Given the description of an element on the screen output the (x, y) to click on. 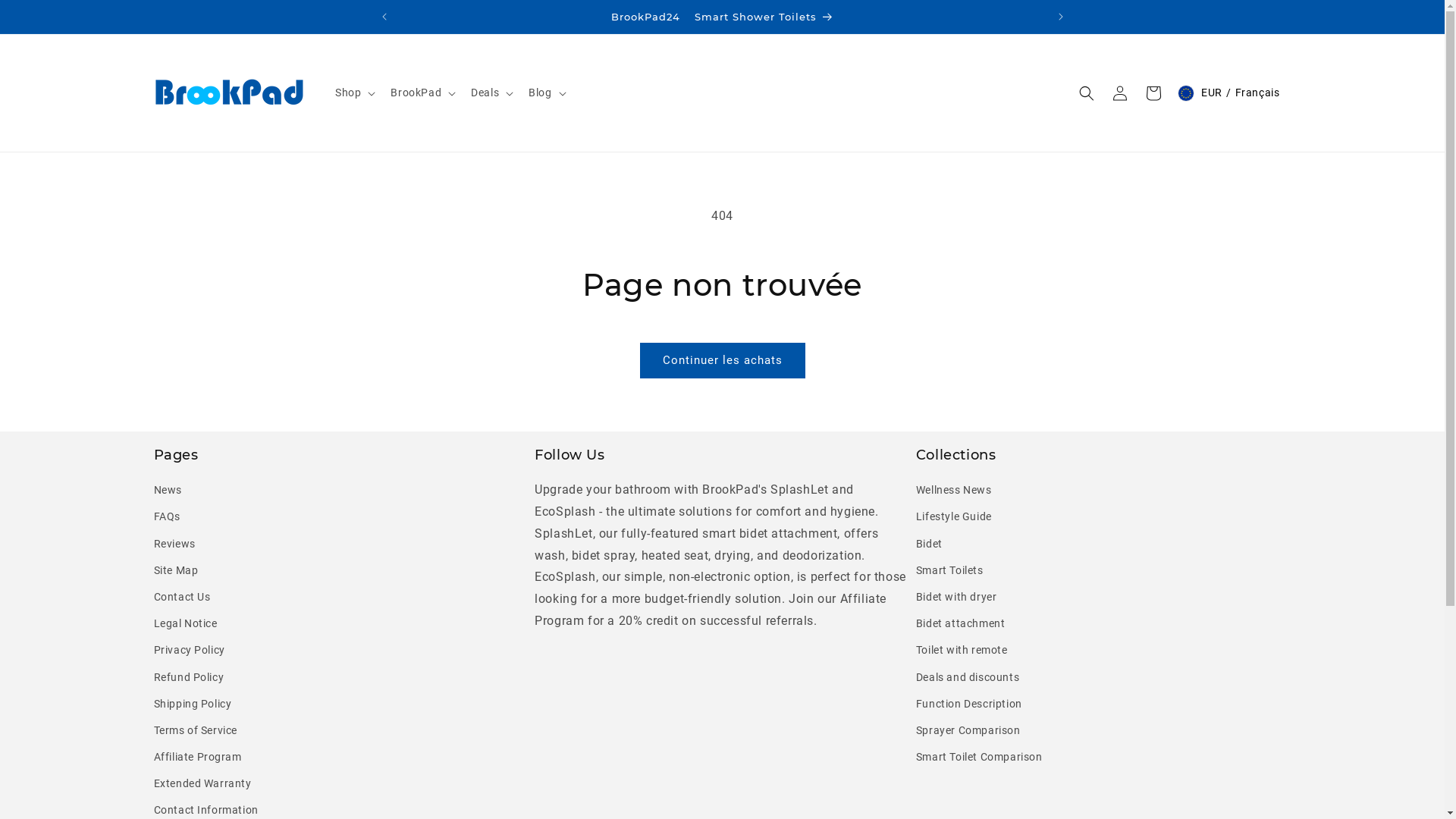
Privacy Policy Element type: text (188, 650)
Site Map Element type: text (175, 570)
Refund Policy Element type: text (188, 677)
Bidet attachment Element type: text (960, 623)
Function Description Element type: text (969, 703)
Lifestyle Guide Element type: text (953, 516)
News Element type: text (167, 491)
FAQs Element type: text (166, 516)
Wellness News Element type: text (953, 491)
Panier Element type: text (1153, 92)
Smart Toilet Comparison Element type: text (979, 756)
Contact Us Element type: text (181, 596)
Bidet Element type: text (929, 543)
Terms of Service Element type: text (195, 730)
Deals and discounts Element type: text (967, 677)
Shipping Policy Element type: text (192, 703)
Legal Notice Element type: text (184, 623)
Toilet with remote Element type: text (961, 650)
Reviews Element type: text (173, 543)
Sprayer Comparison Element type: text (968, 730)
Smart Toilets Element type: text (949, 570)
Connexion Element type: text (1119, 92)
Affiliate Program Element type: text (197, 756)
Continuer les achats Element type: text (722, 360)
Bidet with dryer Element type: text (956, 596)
Extended Warranty Element type: text (202, 783)
